Given the description of an element on the screen output the (x, y) to click on. 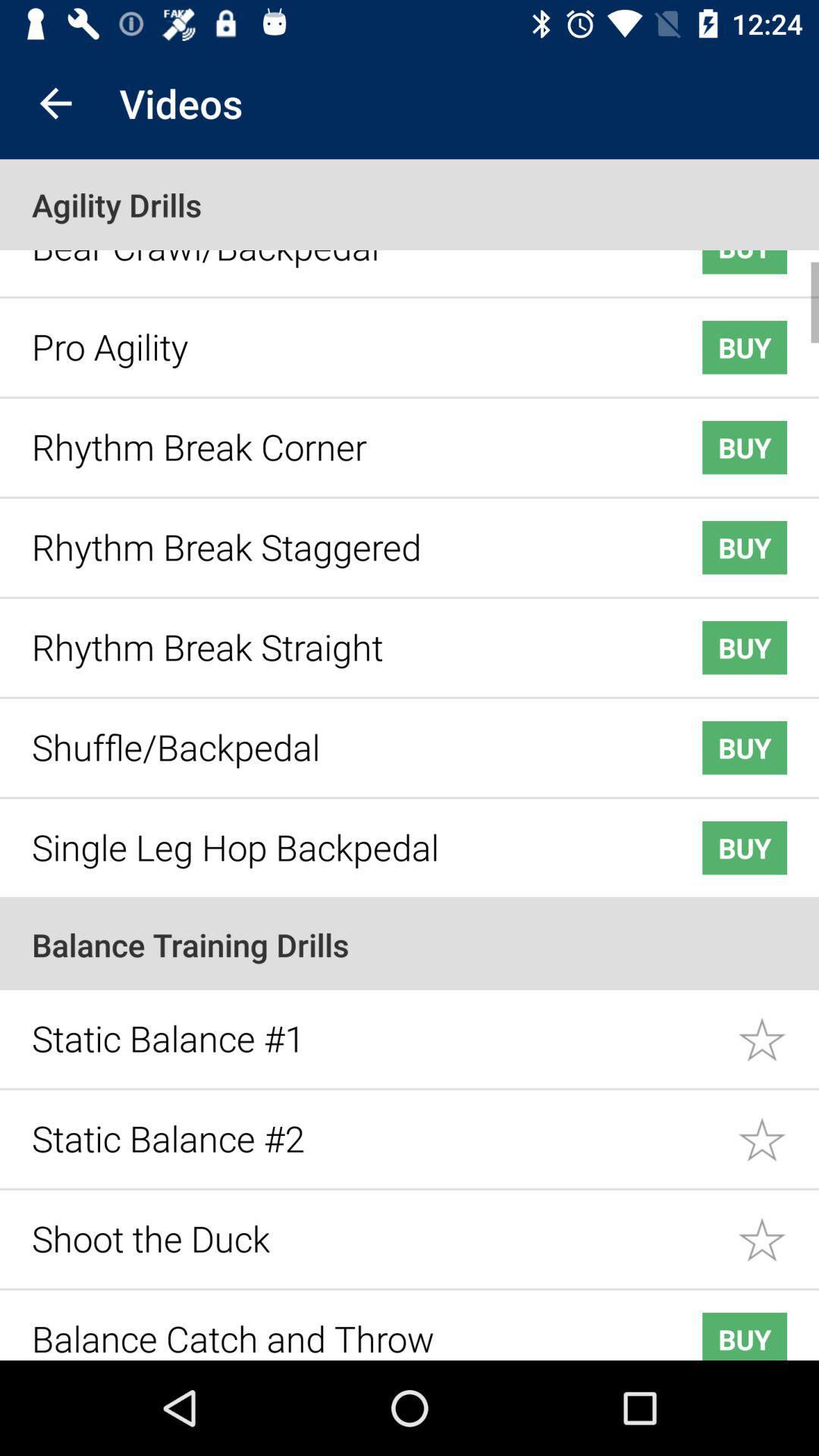
click the icon below the bear crawl/backpedal (342, 335)
